Given the description of an element on the screen output the (x, y) to click on. 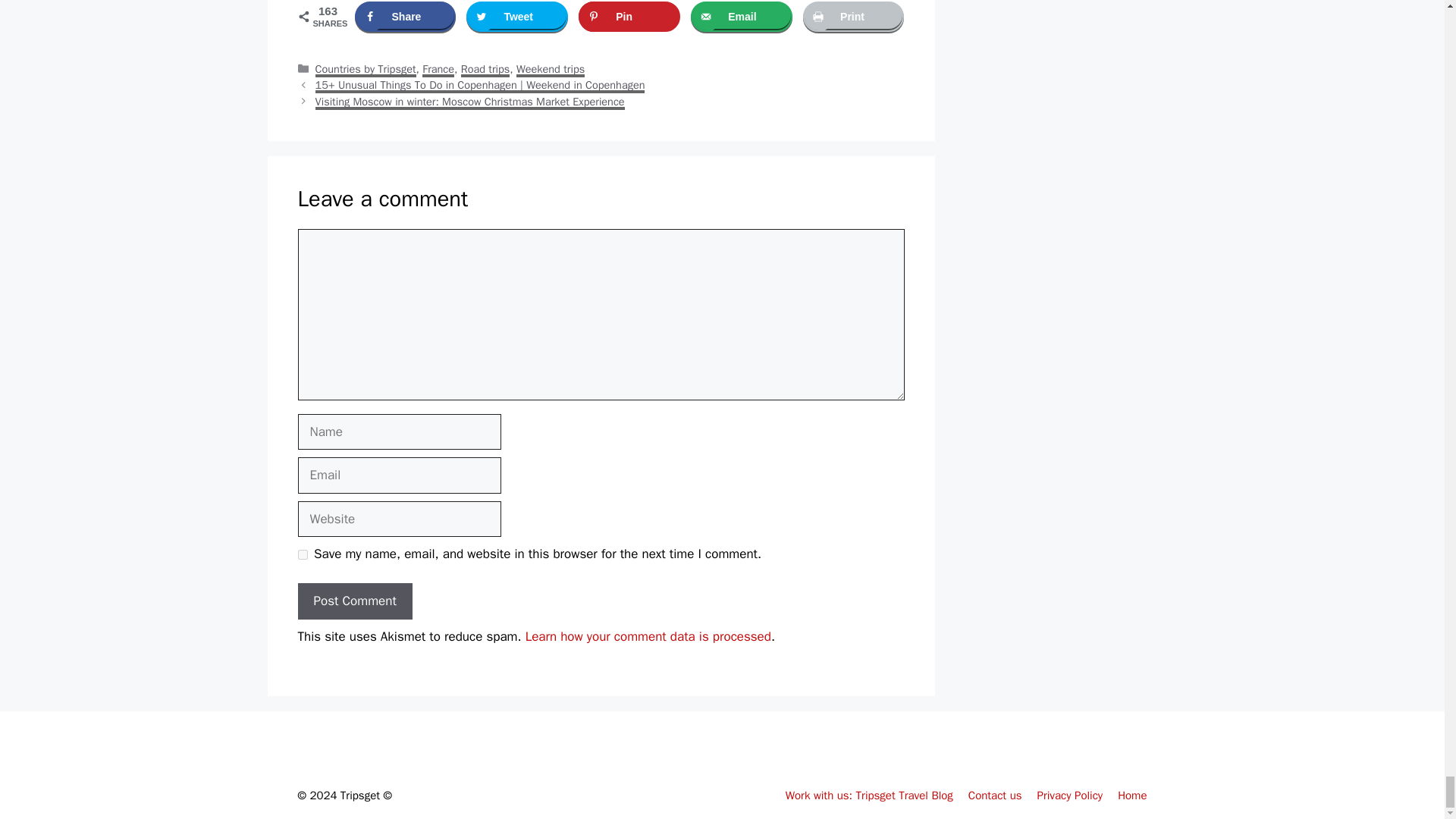
Share on Twitter (516, 16)
Share on Facebook (405, 16)
yes (302, 554)
Print this webpage (853, 16)
Post Comment (354, 601)
Save to Pinterest (628, 16)
Send over email (741, 16)
